Given the description of an element on the screen output the (x, y) to click on. 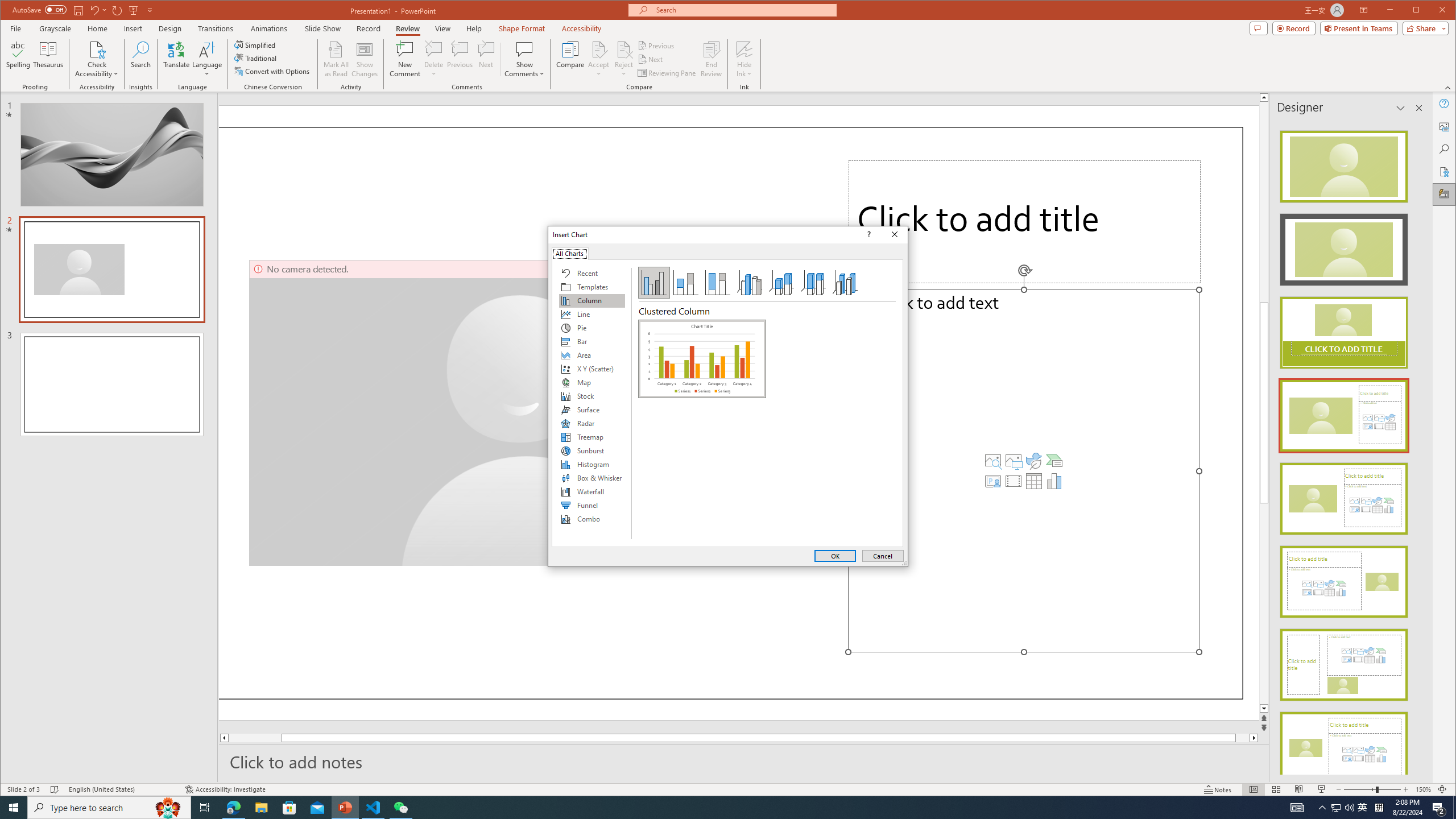
Stacked Column (685, 282)
Stock (591, 395)
Surface (591, 409)
